Given the description of an element on the screen output the (x, y) to click on. 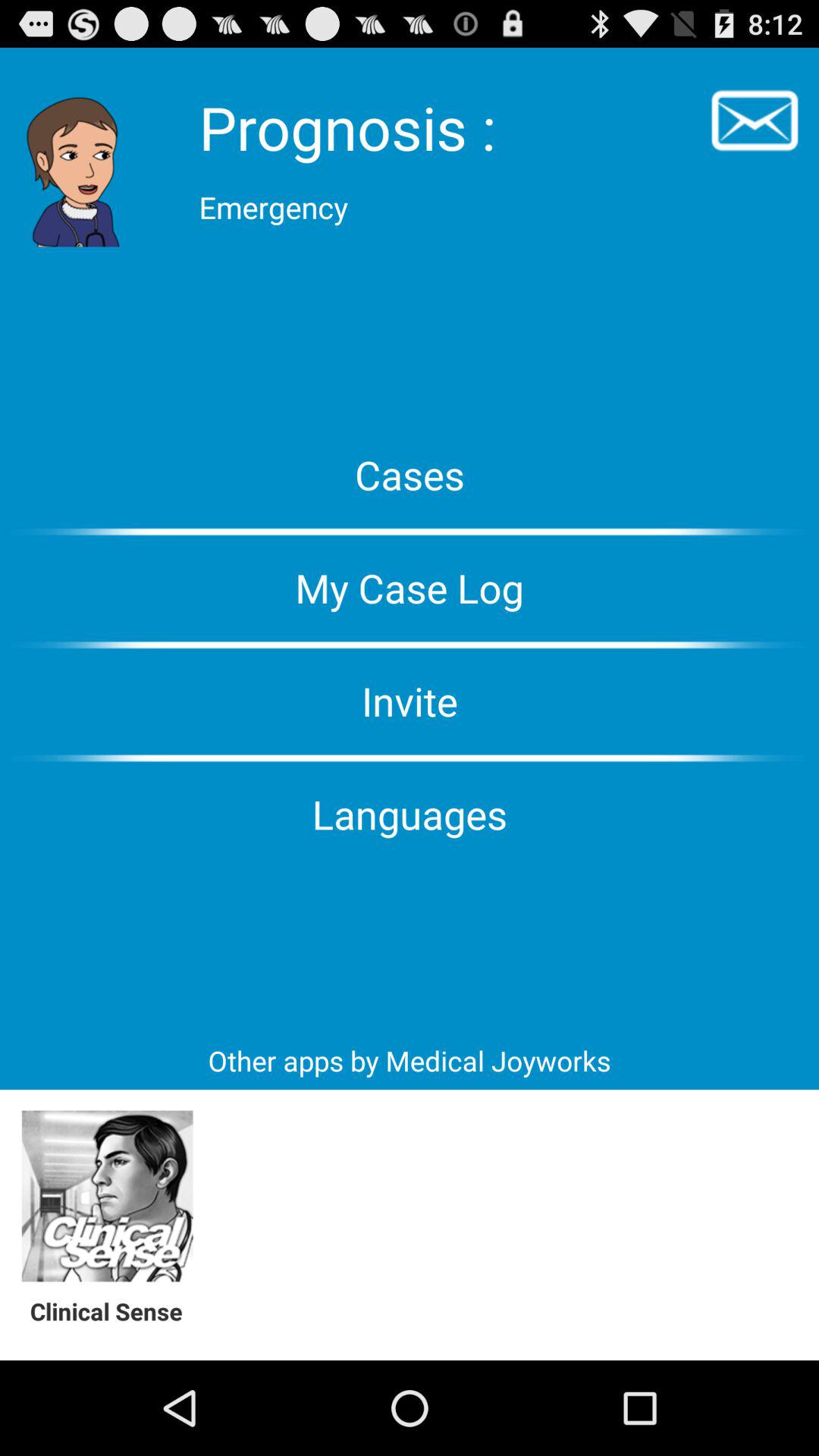
scroll until the languages button (409, 813)
